Given the description of an element on the screen output the (x, y) to click on. 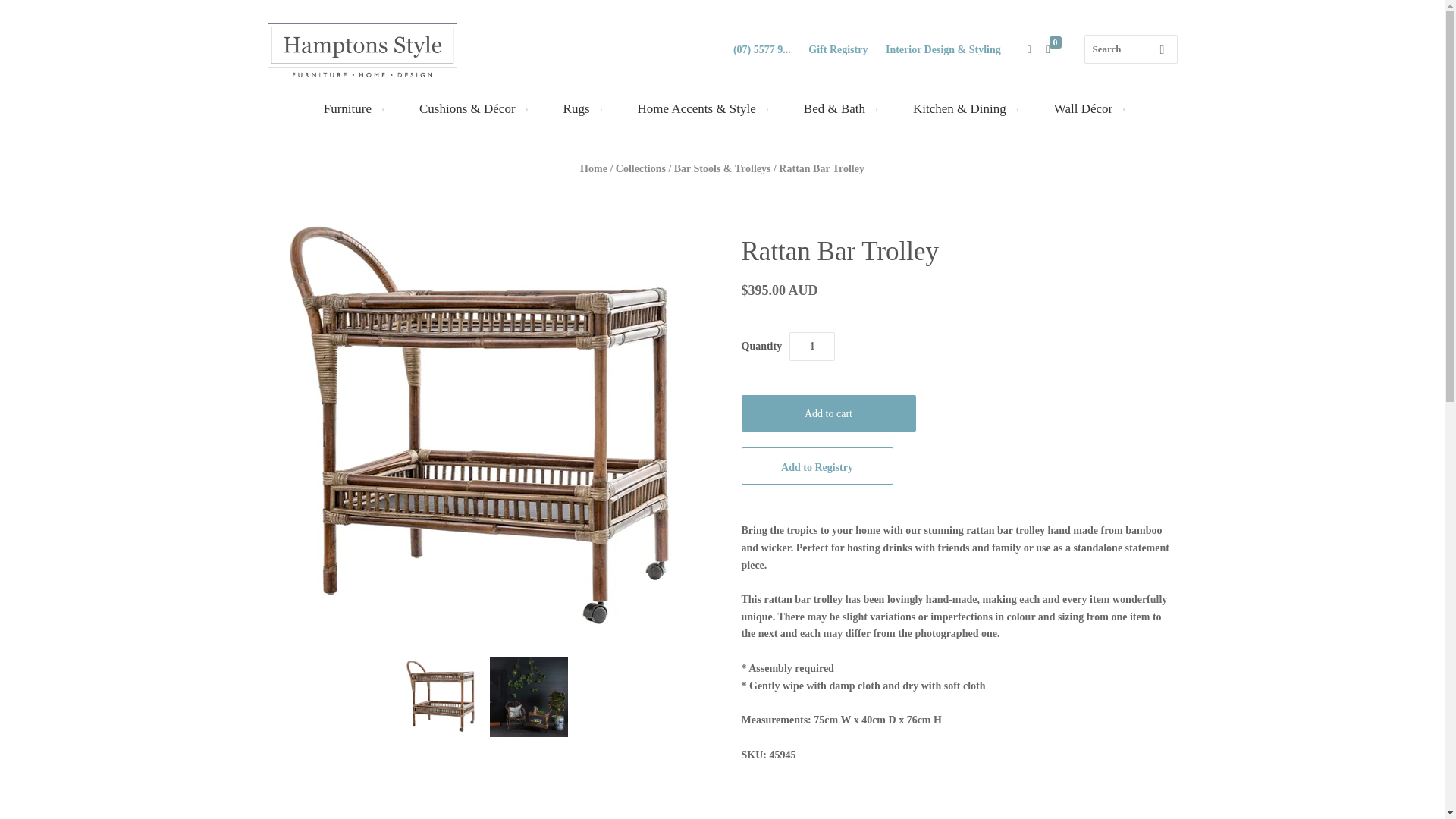
Add to cart (828, 413)
0 (1055, 49)
Gift Registry (837, 49)
Furniture (351, 108)
1 (811, 346)
